Given the description of an element on the screen output the (x, y) to click on. 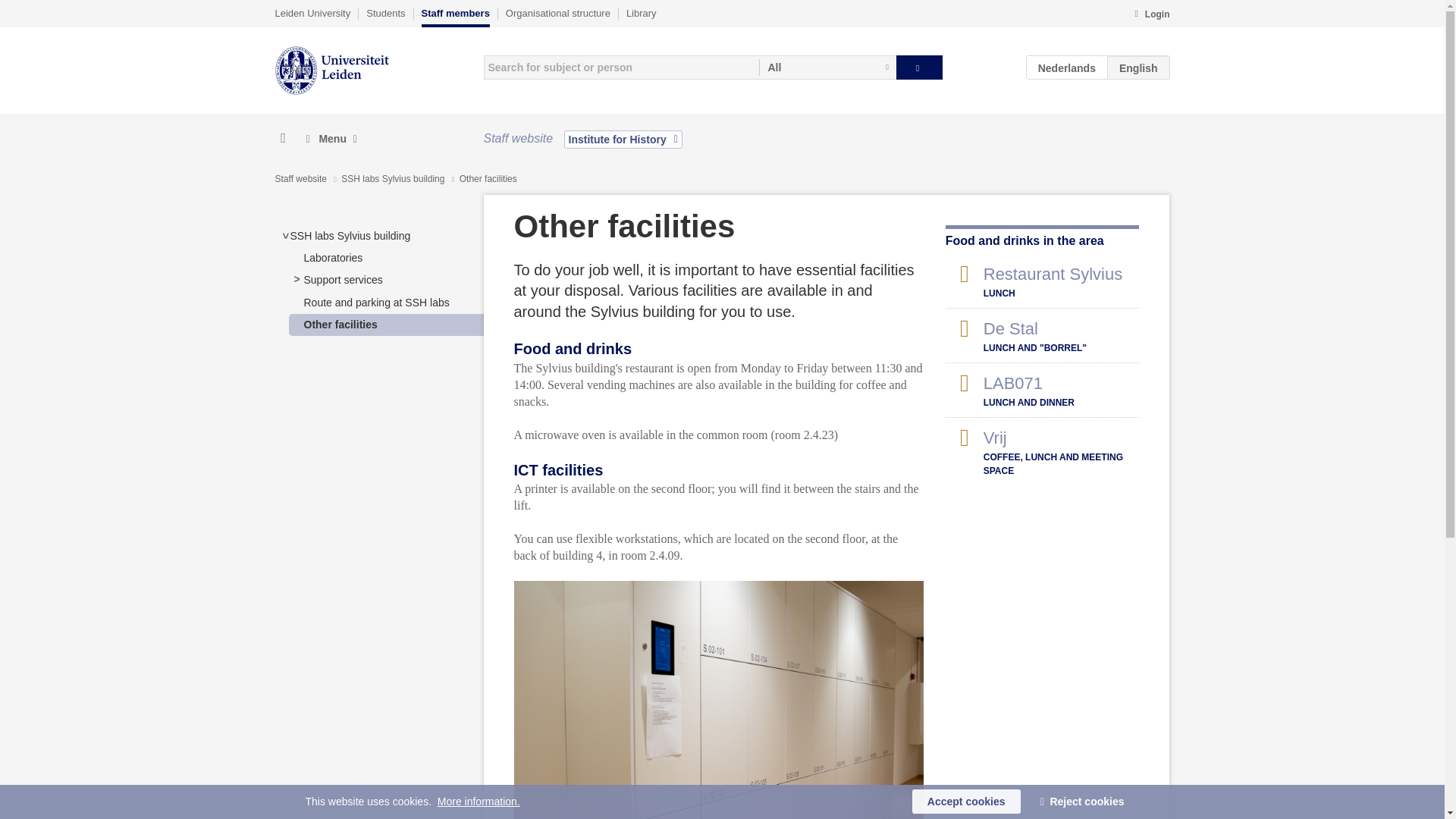
NL (1067, 67)
Laboratories (332, 257)
All (827, 67)
Organisational structure (557, 13)
Students (385, 13)
Support services (341, 279)
Search (919, 67)
Leiden University (312, 13)
Institute for History (623, 139)
Login (1151, 14)
